Given the description of an element on the screen output the (x, y) to click on. 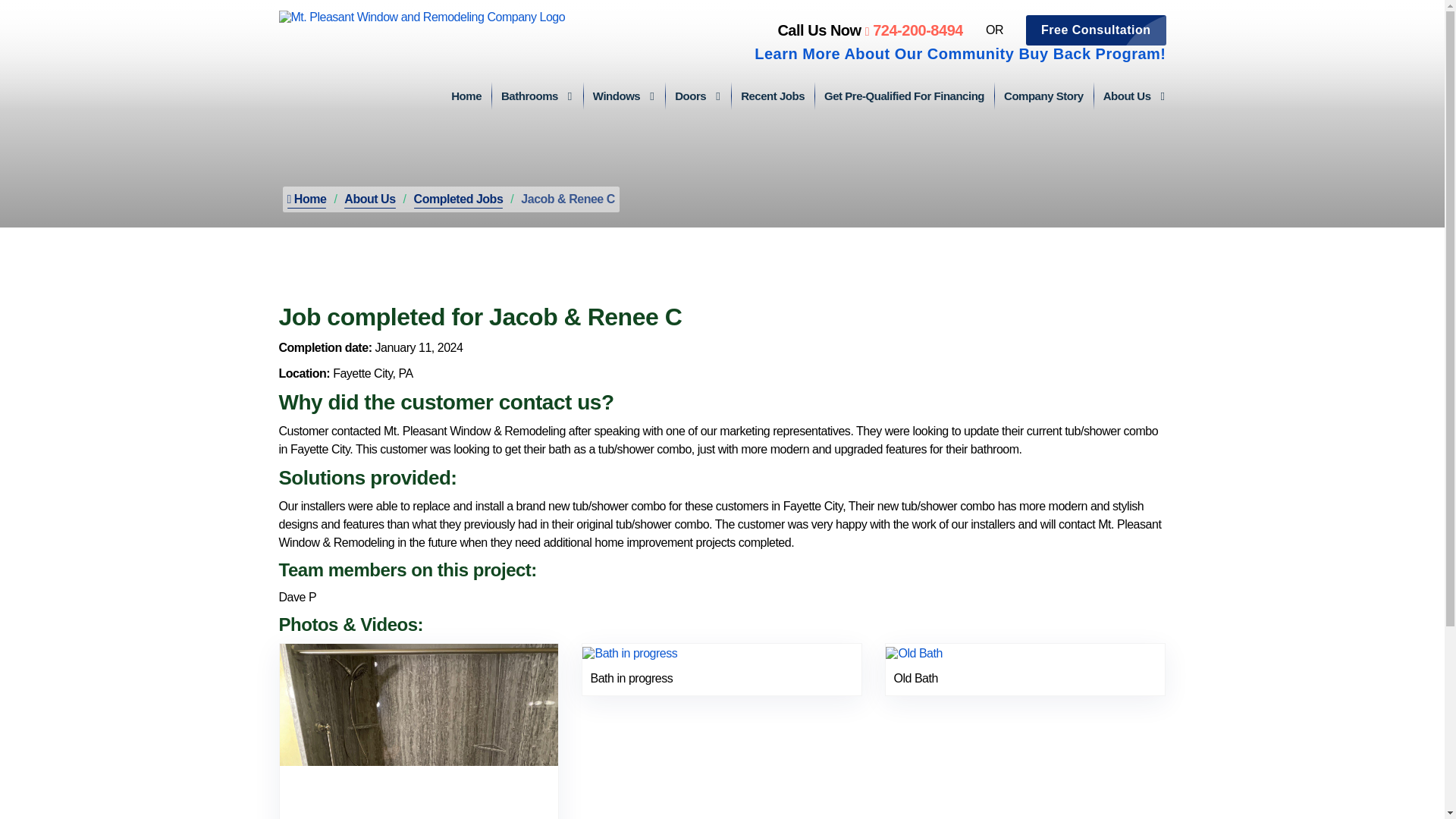
Windows (623, 95)
Old Bath (913, 652)
Bath in progress  (629, 652)
Home (466, 95)
Bathrooms (536, 95)
724-200-8494 (913, 30)
Learn More About Our Community Buy Back Program! (960, 53)
Free Consultation (1096, 30)
